Given the description of an element on the screen output the (x, y) to click on. 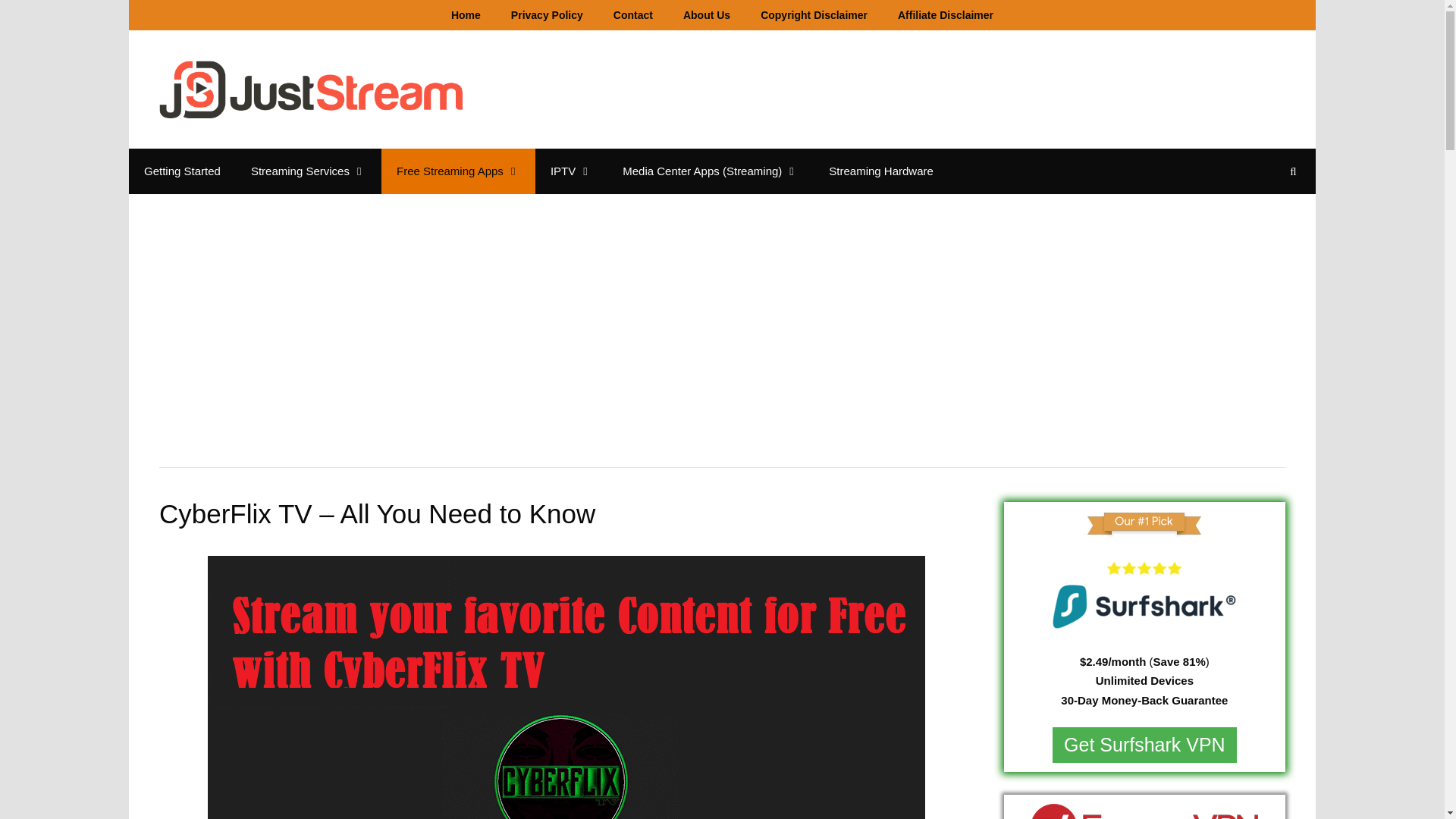
Contact (633, 15)
Streaming Services (308, 171)
Free Streaming Apps (458, 171)
About Us (706, 15)
Privacy Policy (547, 15)
Copyright Disclaimer (813, 15)
Affiliate Disclaimer (945, 15)
Getting Started (182, 171)
Home (465, 15)
